Given the description of an element on the screen output the (x, y) to click on. 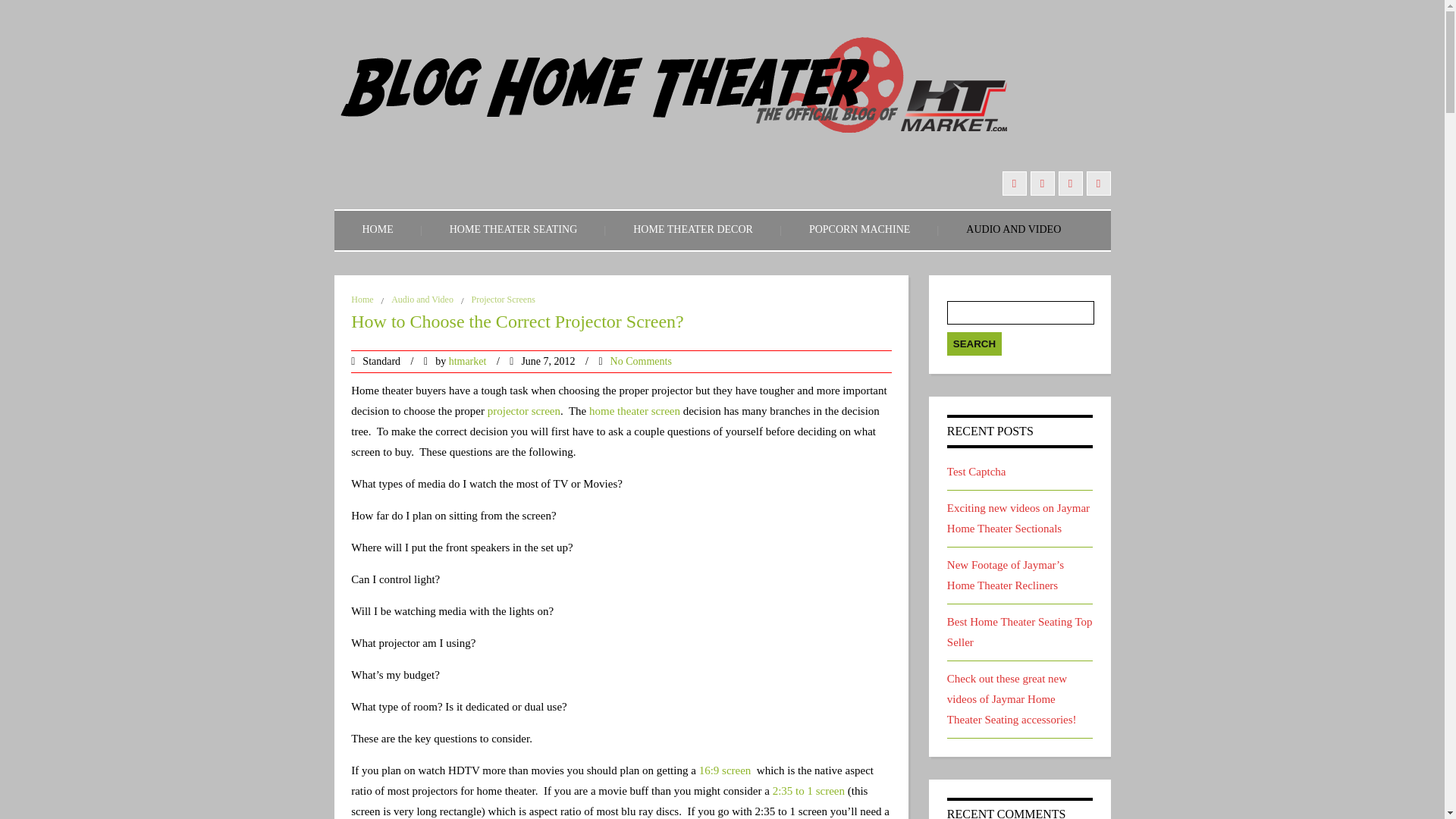
YouTube (1014, 183)
htmarket (467, 360)
Facebook (1097, 183)
RSS (1070, 183)
Home (361, 299)
Search (974, 343)
How to Choose the Correct Projector Screen? (620, 326)
HOME THEATER SEATING (513, 230)
projector screen (523, 410)
home theater screen (635, 410)
